Given the description of an element on the screen output the (x, y) to click on. 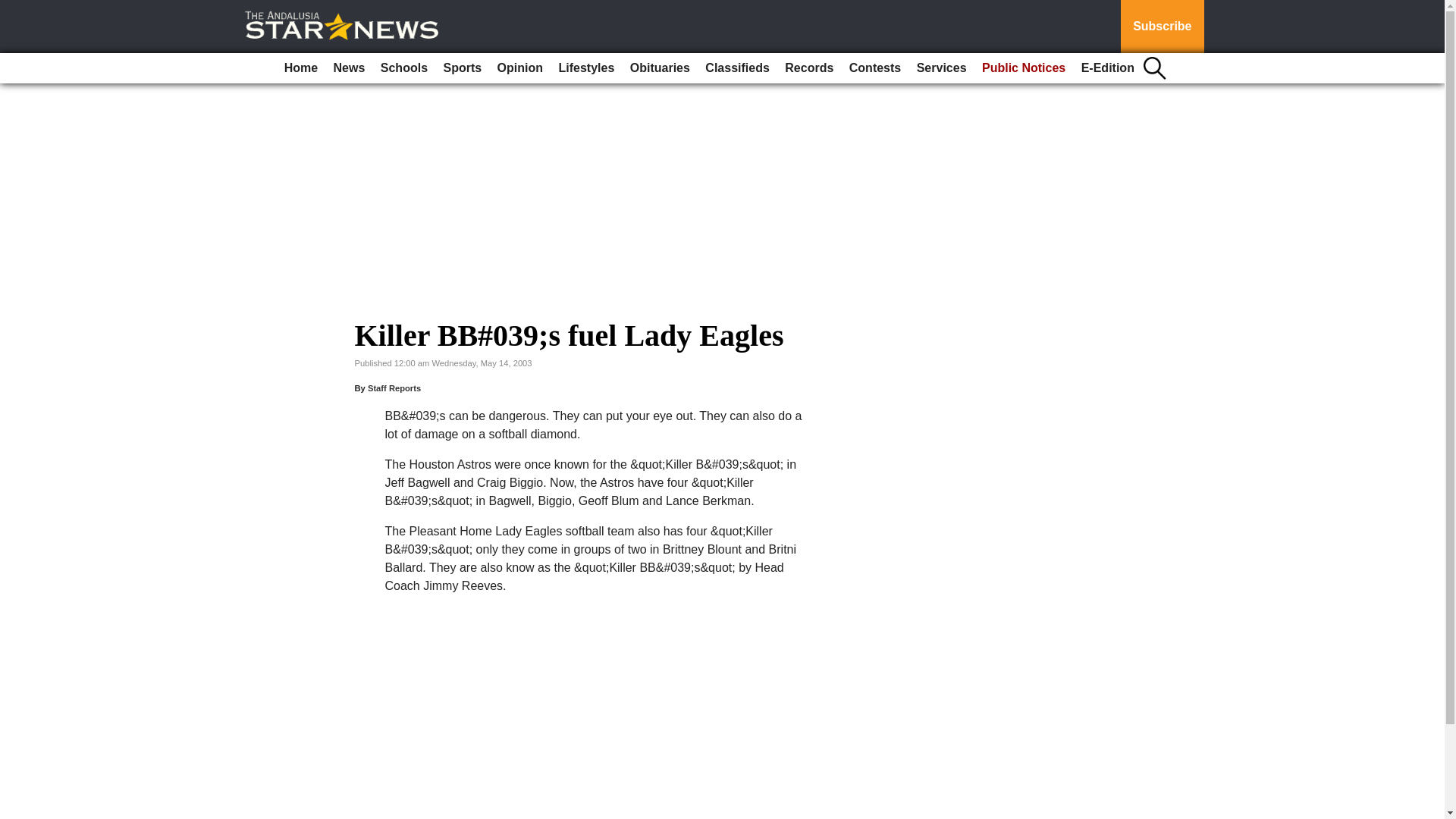
E-Edition (1107, 68)
Sports (461, 68)
Subscribe (1162, 26)
Records (809, 68)
Home (300, 68)
News (349, 68)
Obituaries (659, 68)
Opinion (520, 68)
Public Notices (1023, 68)
Classifieds (736, 68)
